Given the description of an element on the screen output the (x, y) to click on. 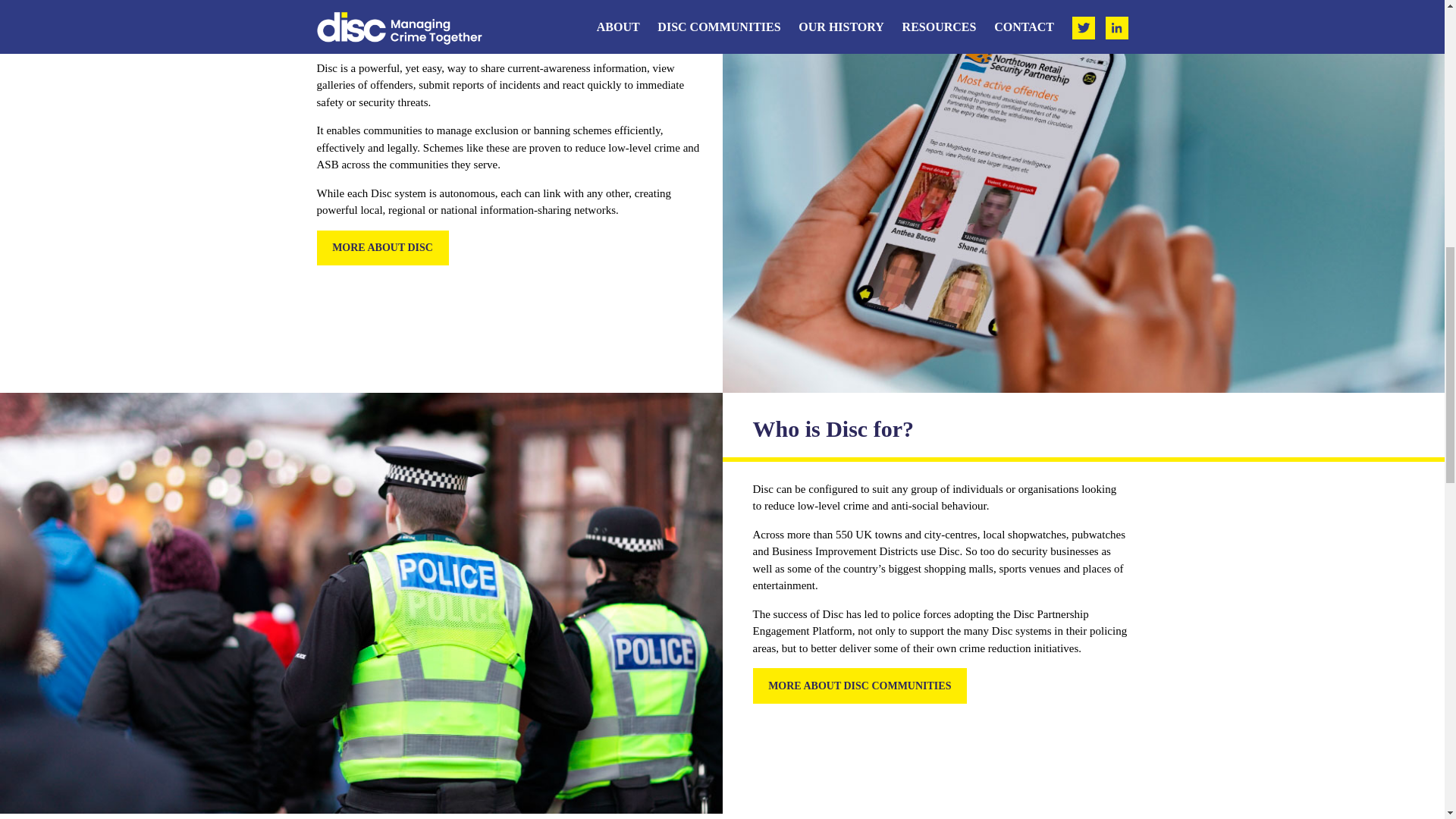
MORE ABOUT DISC COMMUNITIES (859, 685)
MORE ABOUT DISC (382, 248)
